Given the description of an element on the screen output the (x, y) to click on. 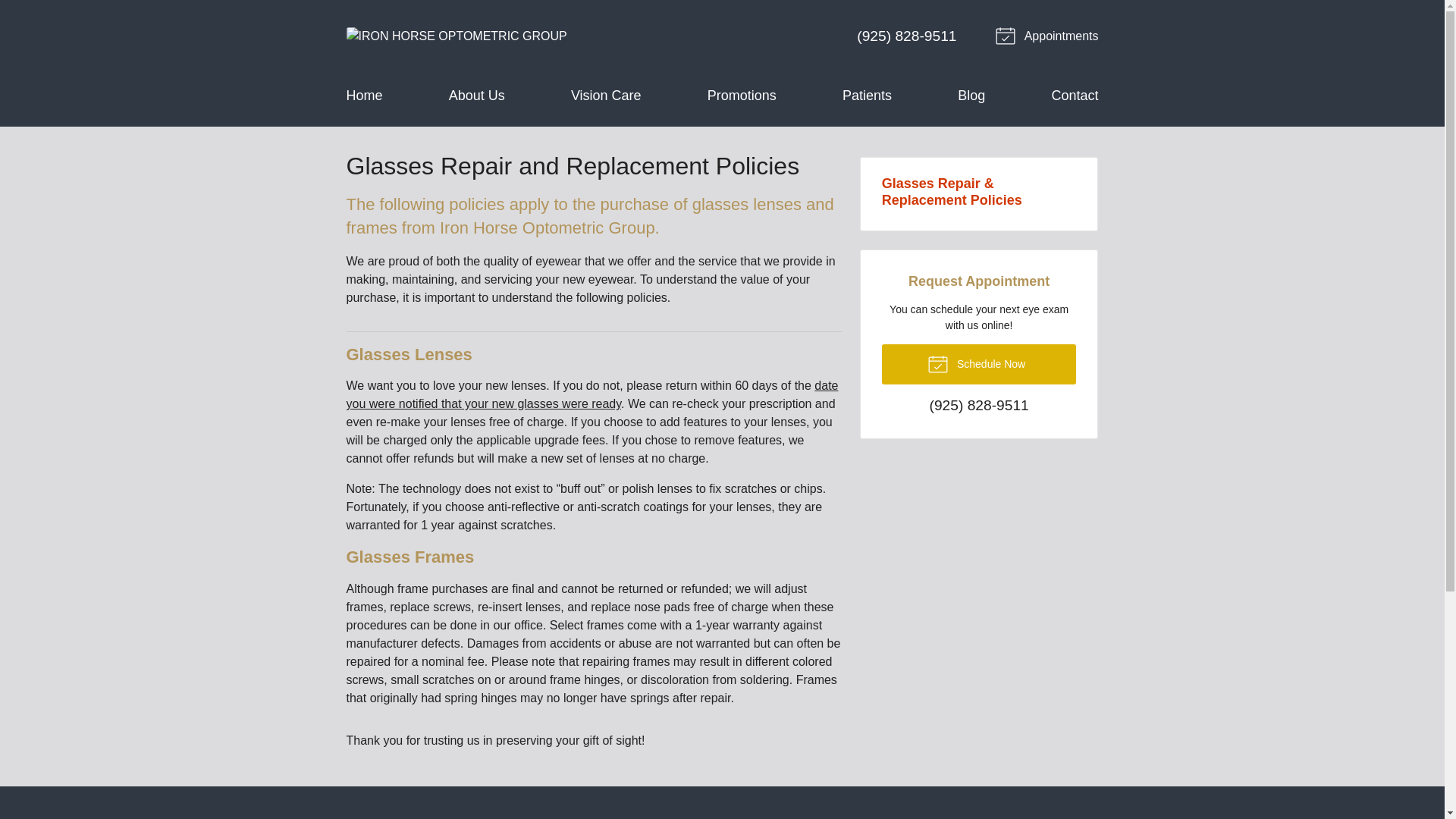
Appointments (1048, 36)
Call practice (906, 35)
Patients (867, 95)
Schedule Now (979, 363)
About Us (476, 95)
Vision Care (606, 95)
Promotions (741, 95)
Contact (1074, 95)
Request Appointment (1048, 36)
Iron Horse Optometric Group (456, 36)
